Given the description of an element on the screen output the (x, y) to click on. 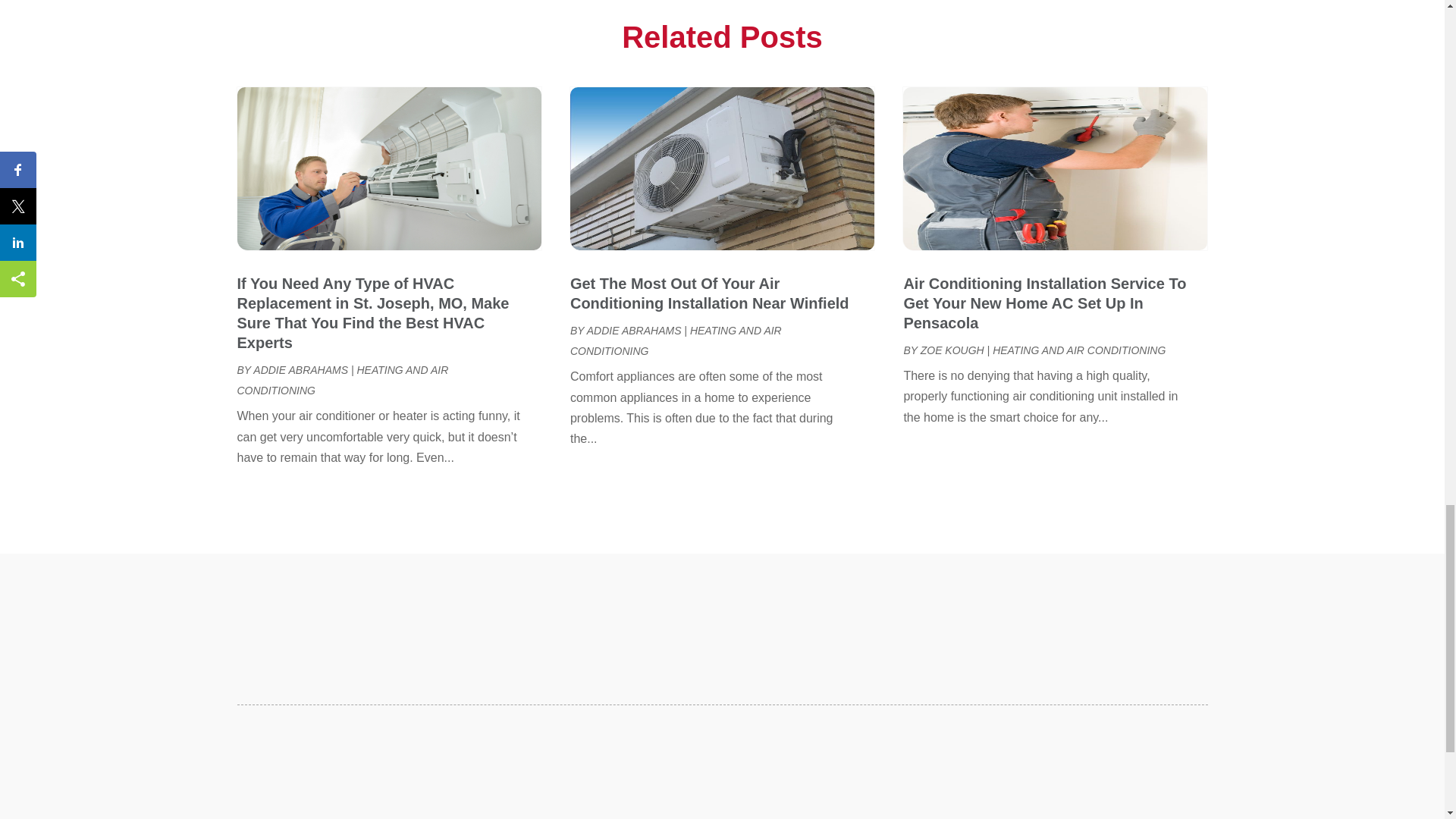
Custom Home Builder (965, 19)
Posts by Zoe Kough (952, 349)
Posts by Addie Abrahams (633, 330)
Contractor (938, 2)
Posts by Addie Abrahams (300, 369)
